Given the description of an element on the screen output the (x, y) to click on. 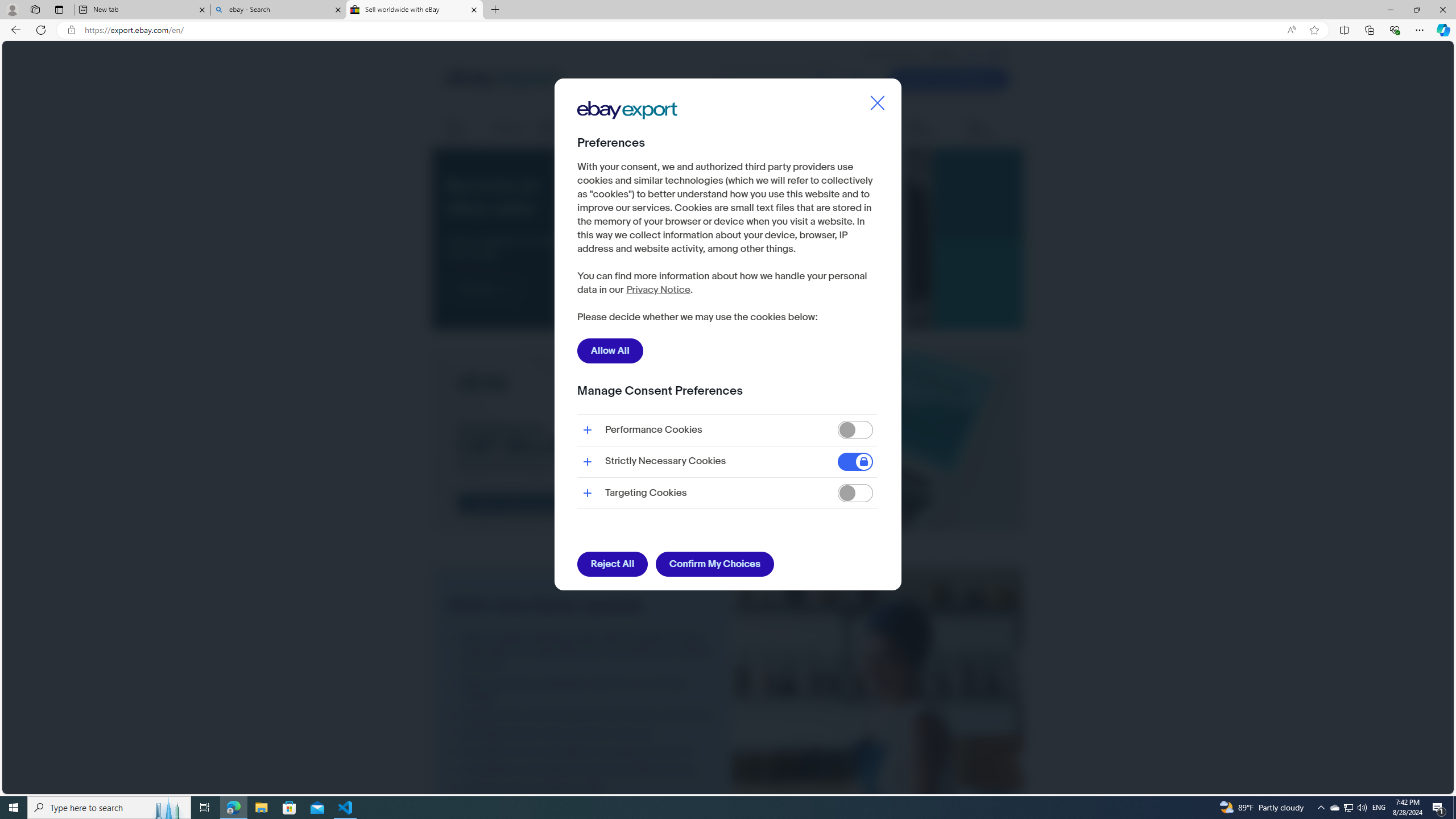
Class: search-input__icon (823, 79)
CBT Web Banner.jpeg (727, 439)
Class: header__logo (502, 79)
Seller updates (928, 128)
Sell worldwide with eBay (414, 9)
